Given the description of an element on the screen output the (x, y) to click on. 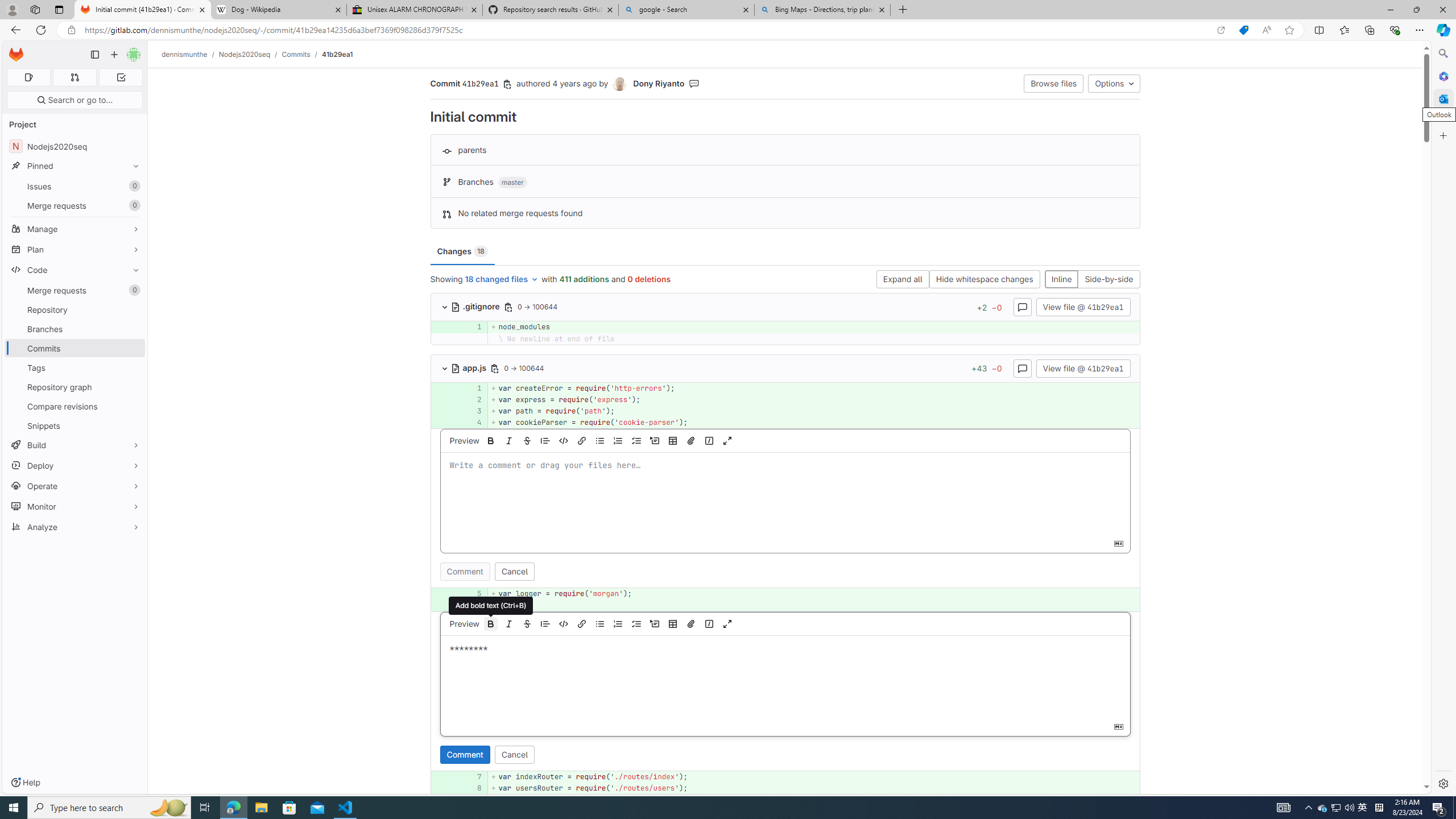
5 (471, 594)
Class: div-dropzone-icon s24 (783, 676)
Analyze (74, 526)
AutomationID: 4a68969ef8e858229267b842dedf42ab5dde4d50_0_1 (785, 387)
Repository (74, 309)
Repository graph (74, 386)
Pin Compare revisions (132, 406)
AutomationID: 4a68969ef8e858229267b842dedf42ab5dde4d50_0_8 (785, 788)
Snippets (74, 425)
Insert a quote (544, 623)
Merge requests0 (74, 289)
.gitignore  (476, 306)
